Given the description of an element on the screen output the (x, y) to click on. 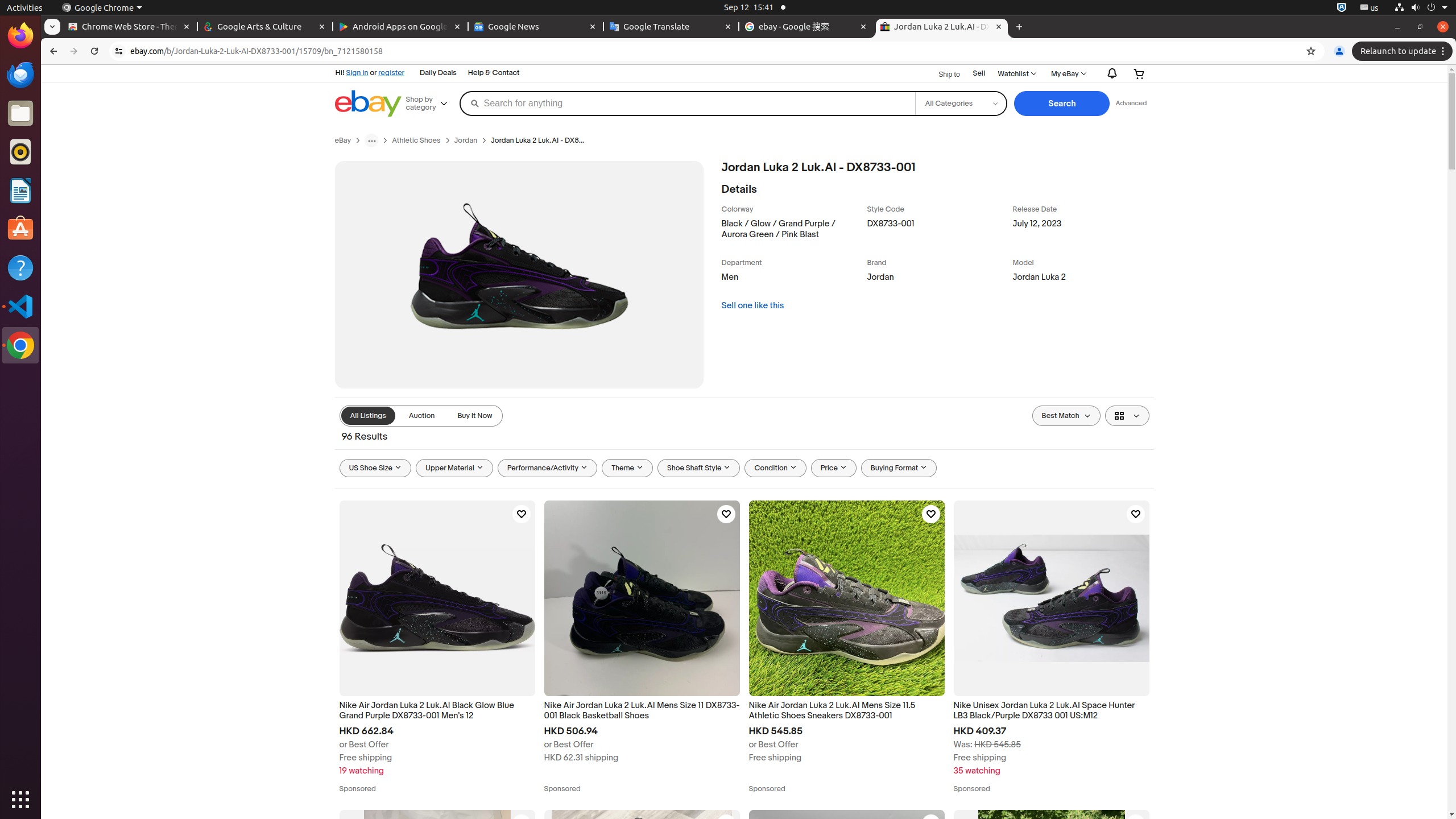
View: Gallery View Element type: push-button (1126, 415)
View site information Element type: push-button (118, 51)
Performance/Activity Element type: push-button (547, 467)
Shop by category Element type: push-button (430, 103)
Buy It Now Element type: link (474, 415)
